Given the description of an element on the screen output the (x, y) to click on. 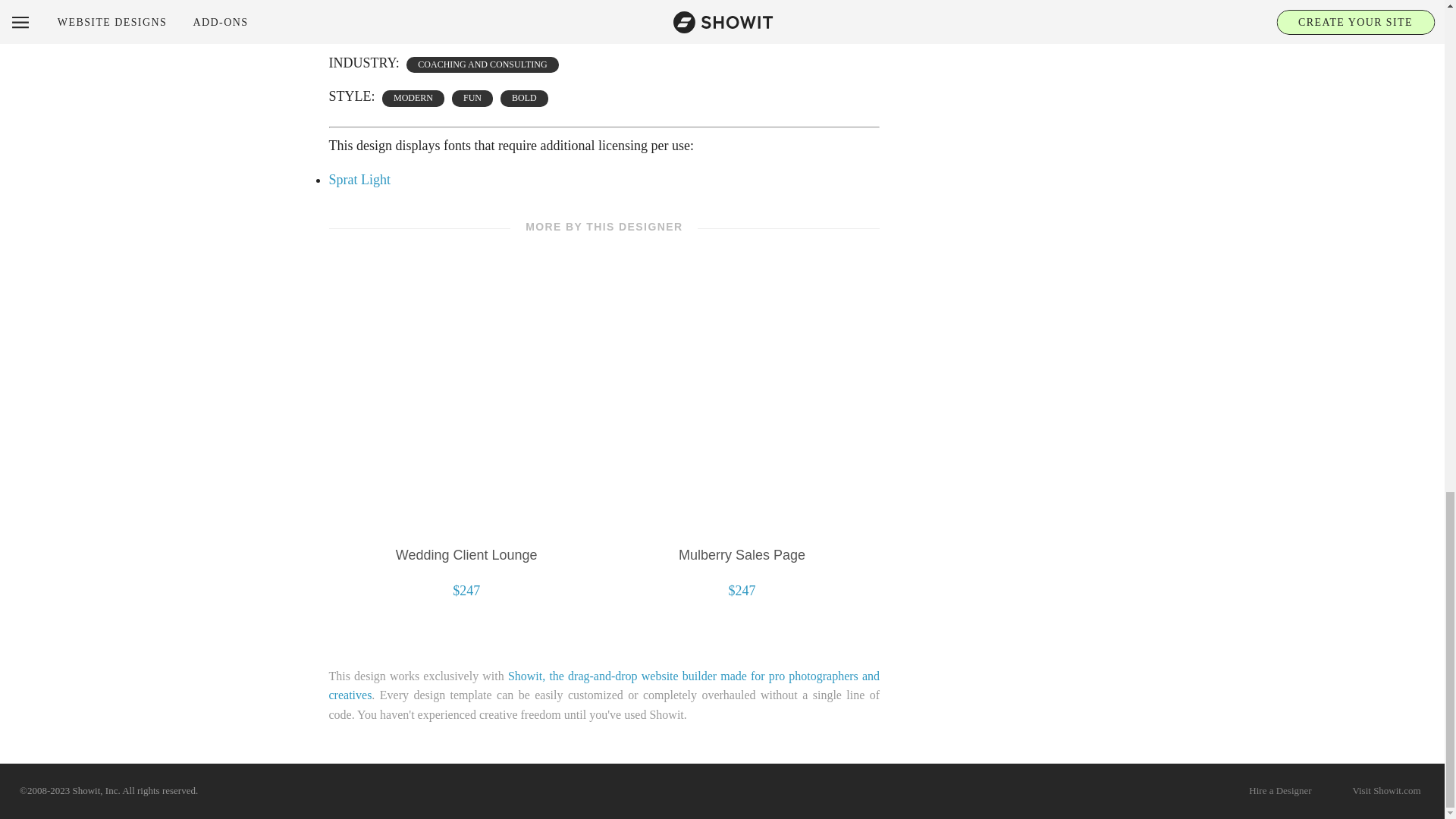
Visit Showit.com (1386, 791)
Mulberry Sales Page (741, 555)
Hire a Designer (1280, 791)
Sprat Light (360, 179)
Wedding Client Lounge (466, 555)
